Given the description of an element on the screen output the (x, y) to click on. 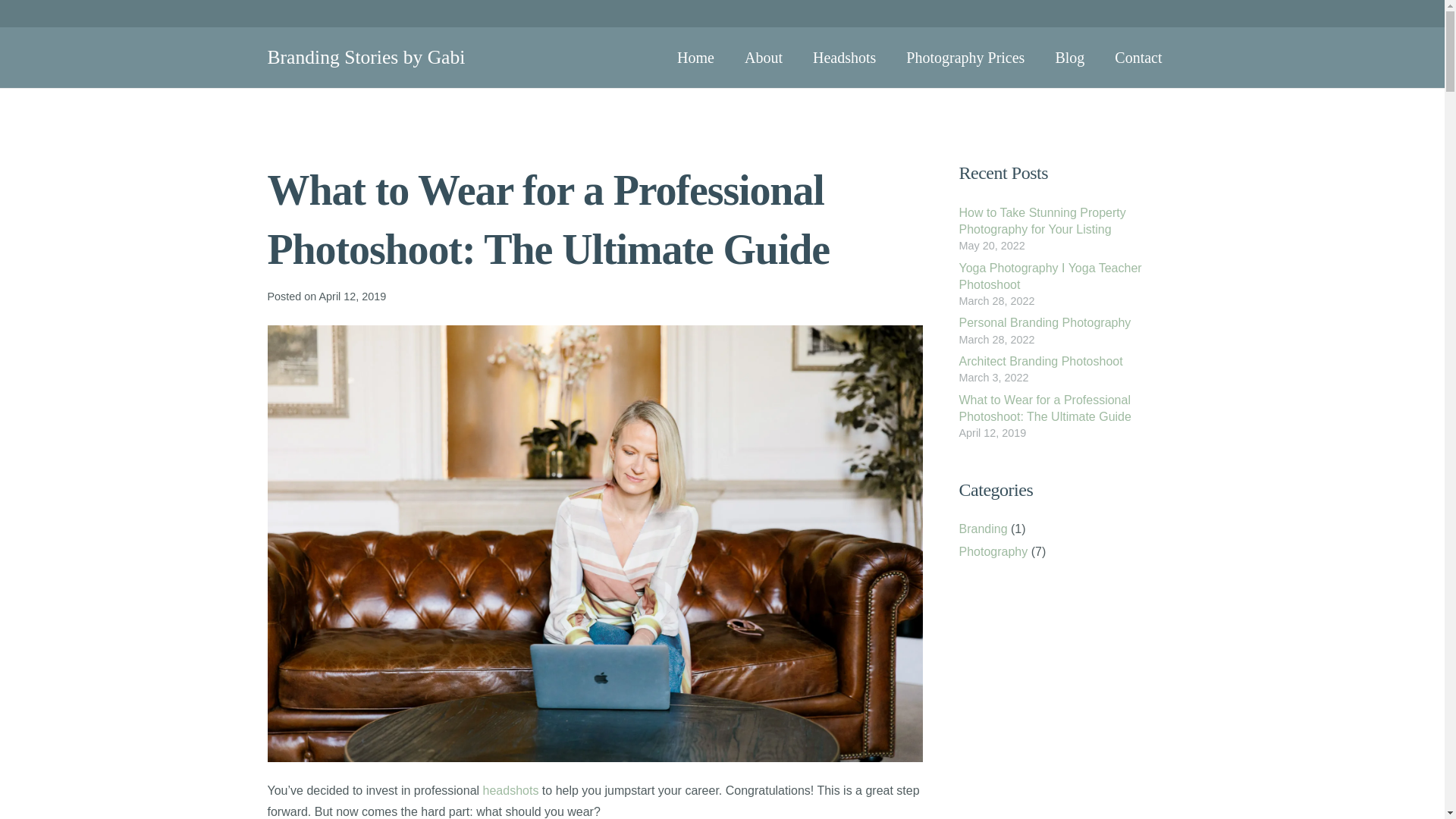
Branding (982, 528)
Headshots (844, 57)
Instagram (969, 590)
Yoga Photography I Yoga Teacher Photoshoot (1049, 276)
Photography (992, 551)
Branding Stories by Gabi (365, 56)
07380138235 (970, 512)
Brighton and Hove, United Kingdom (1029, 541)
Home (1051, 775)
Personal Branding Photography (1044, 322)
